Given the description of an element on the screen output the (x, y) to click on. 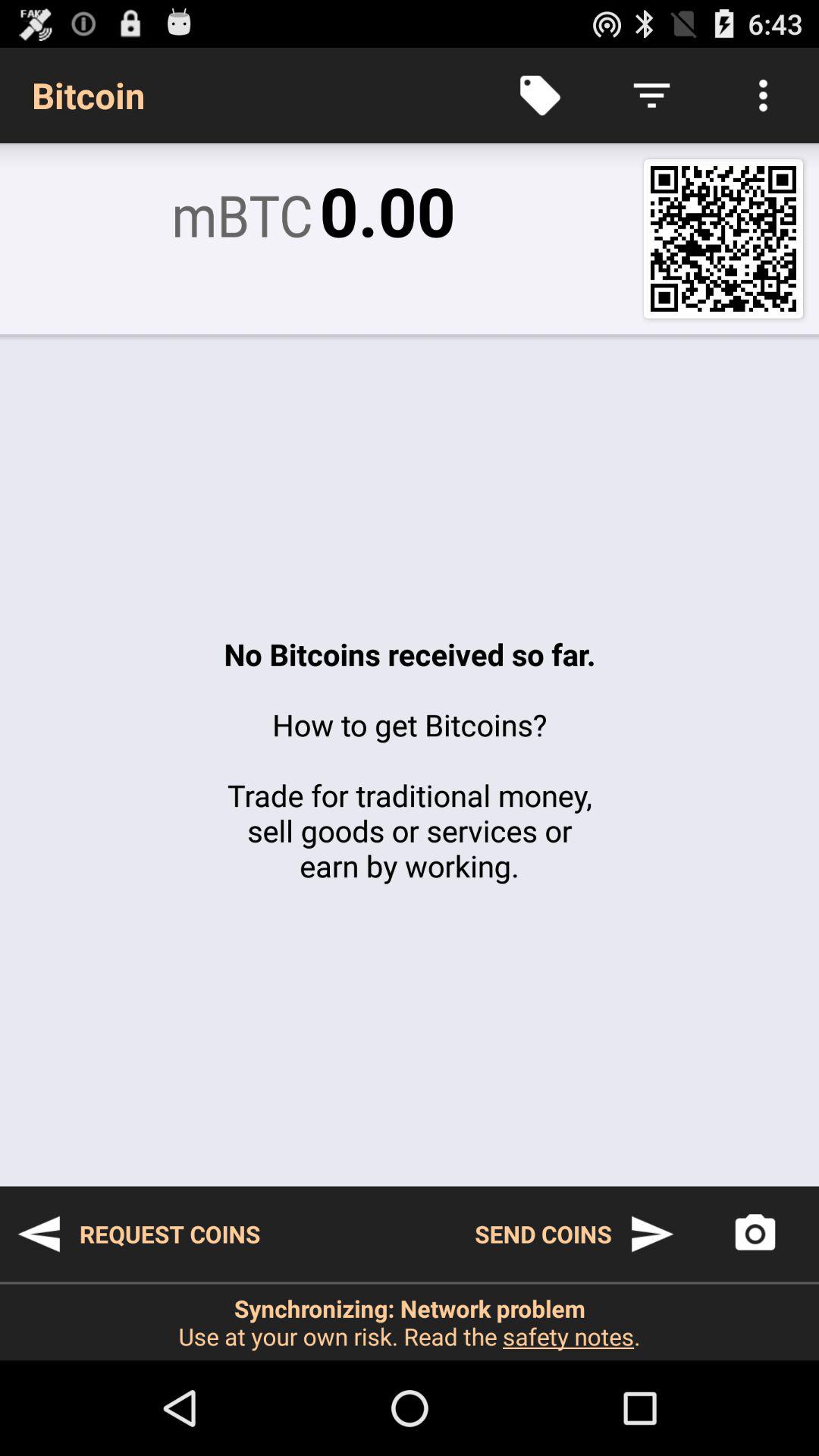
choose button next to request coins (574, 1233)
